Given the description of an element on the screen output the (x, y) to click on. 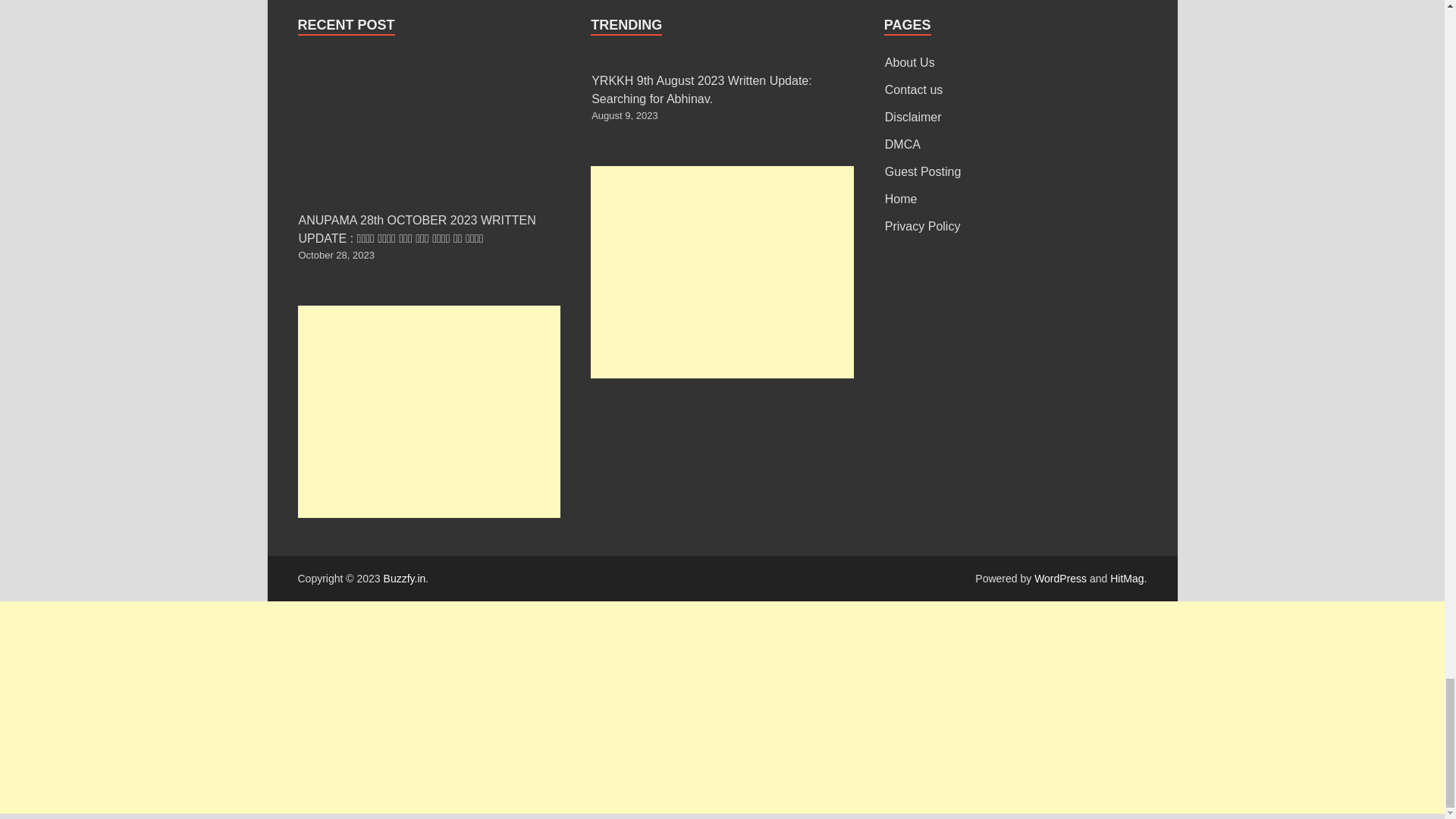
About Us (909, 62)
YRKKH 9th August 2023 Written Update: Searching for Abhinav. (701, 89)
Buzzfy.in (405, 578)
